Given the description of an element on the screen output the (x, y) to click on. 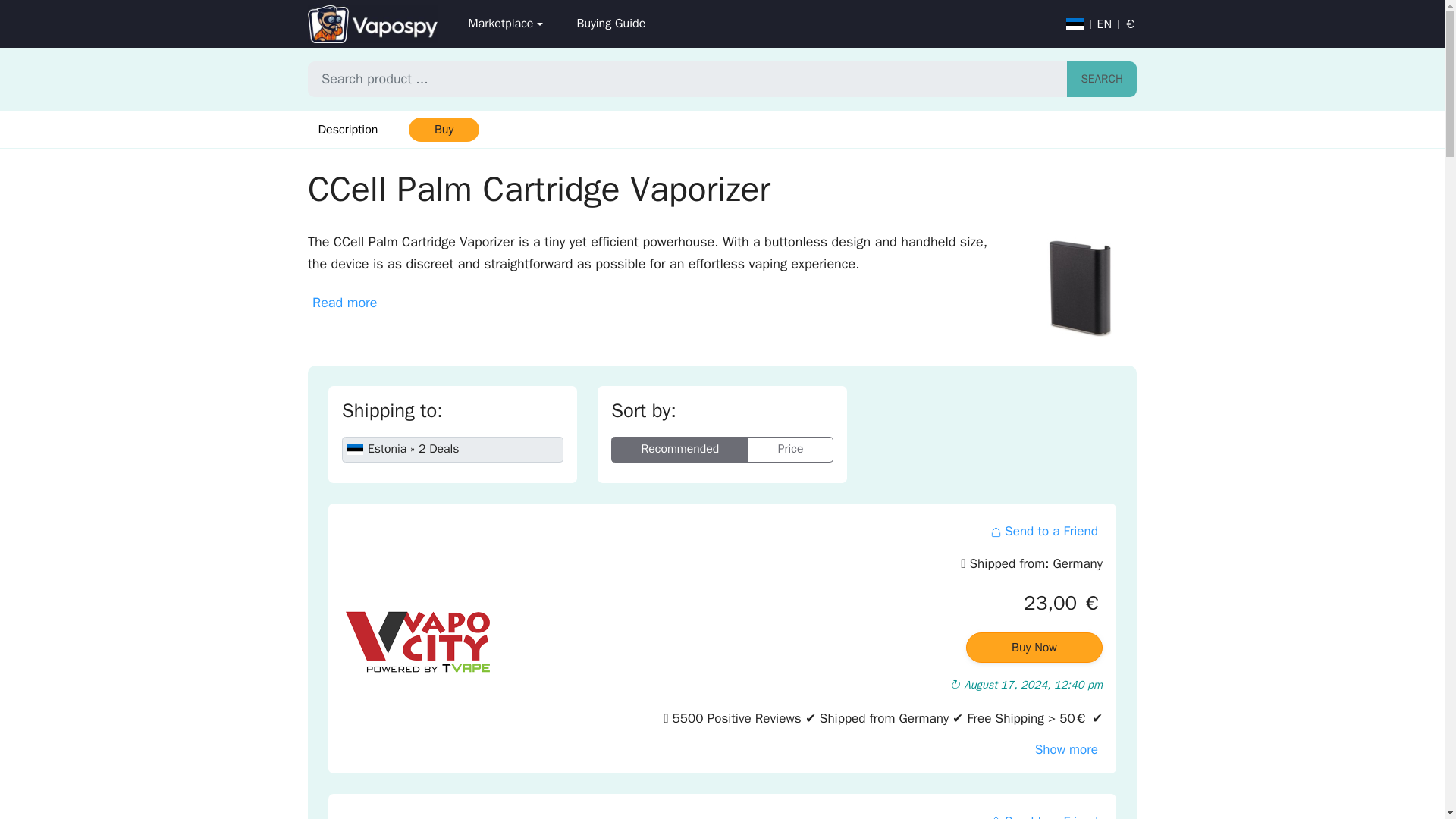
Read more (344, 302)
Recommended (679, 449)
Buying Guide (610, 23)
Shipping to: Estonia (452, 449)
Send to a Friend (1043, 530)
SEARCH (1102, 79)
Buy (443, 129)
Send to a Friend (1043, 813)
Price (790, 449)
Vapo-City.de (417, 641)
